Given the description of an element on the screen output the (x, y) to click on. 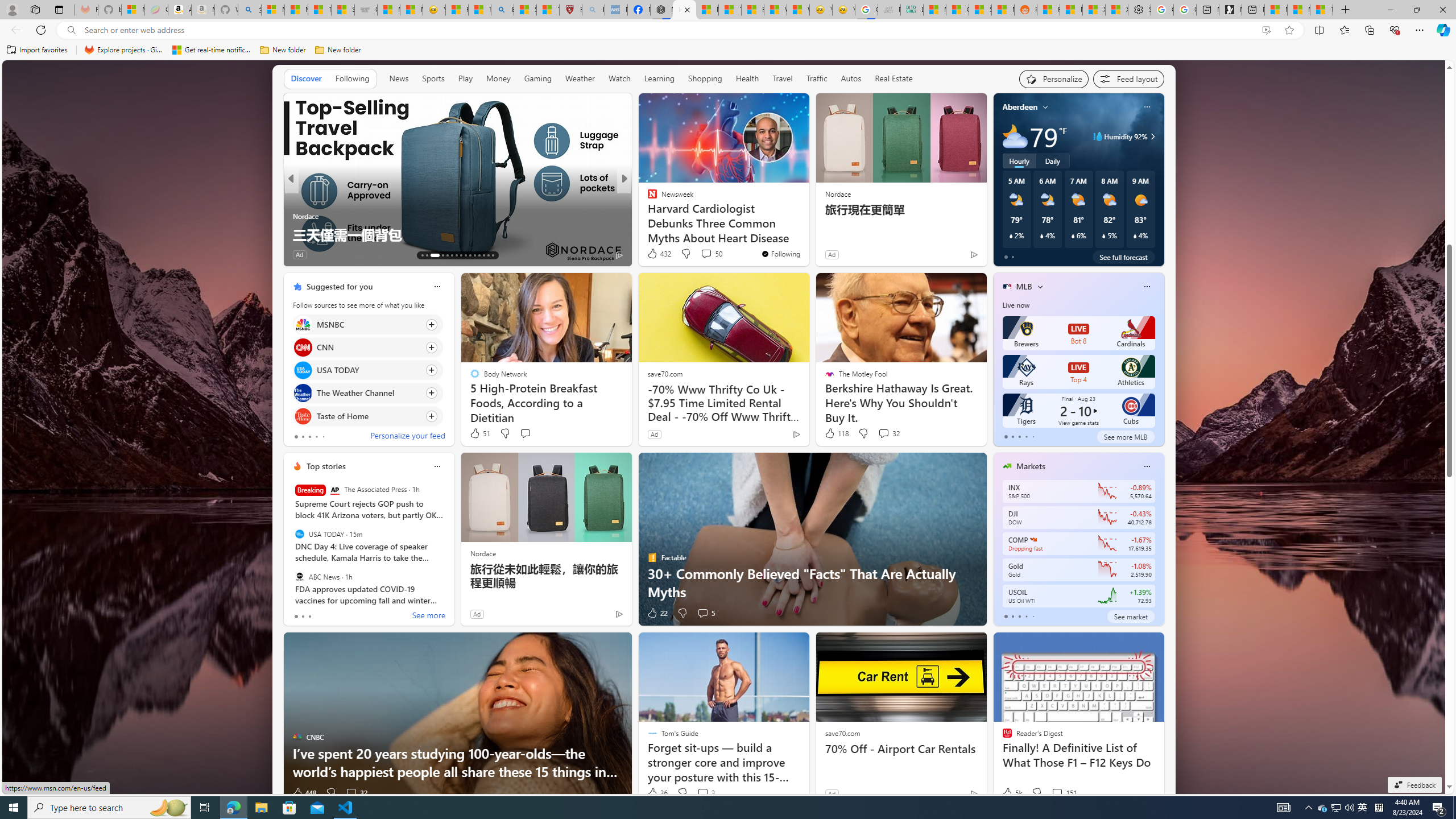
Markets (1030, 466)
182 Like (654, 254)
Click to follow source USA TODAY (367, 370)
Only Earthlings (647, 215)
